Given the description of an element on the screen output the (x, y) to click on. 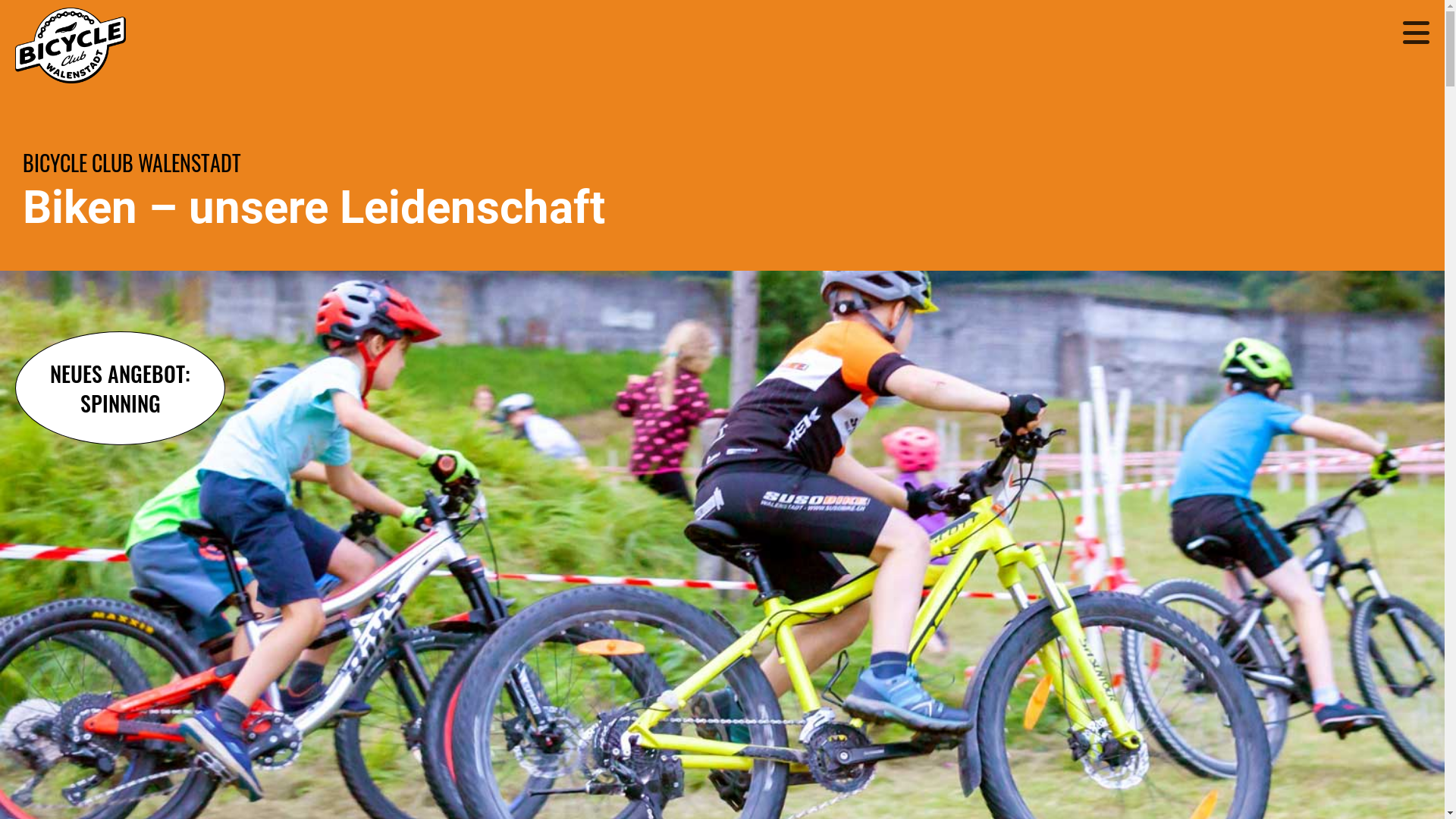
NEUES ANGEBOT:
SPINNING Element type: text (120, 388)
